Given the description of an element on the screen output the (x, y) to click on. 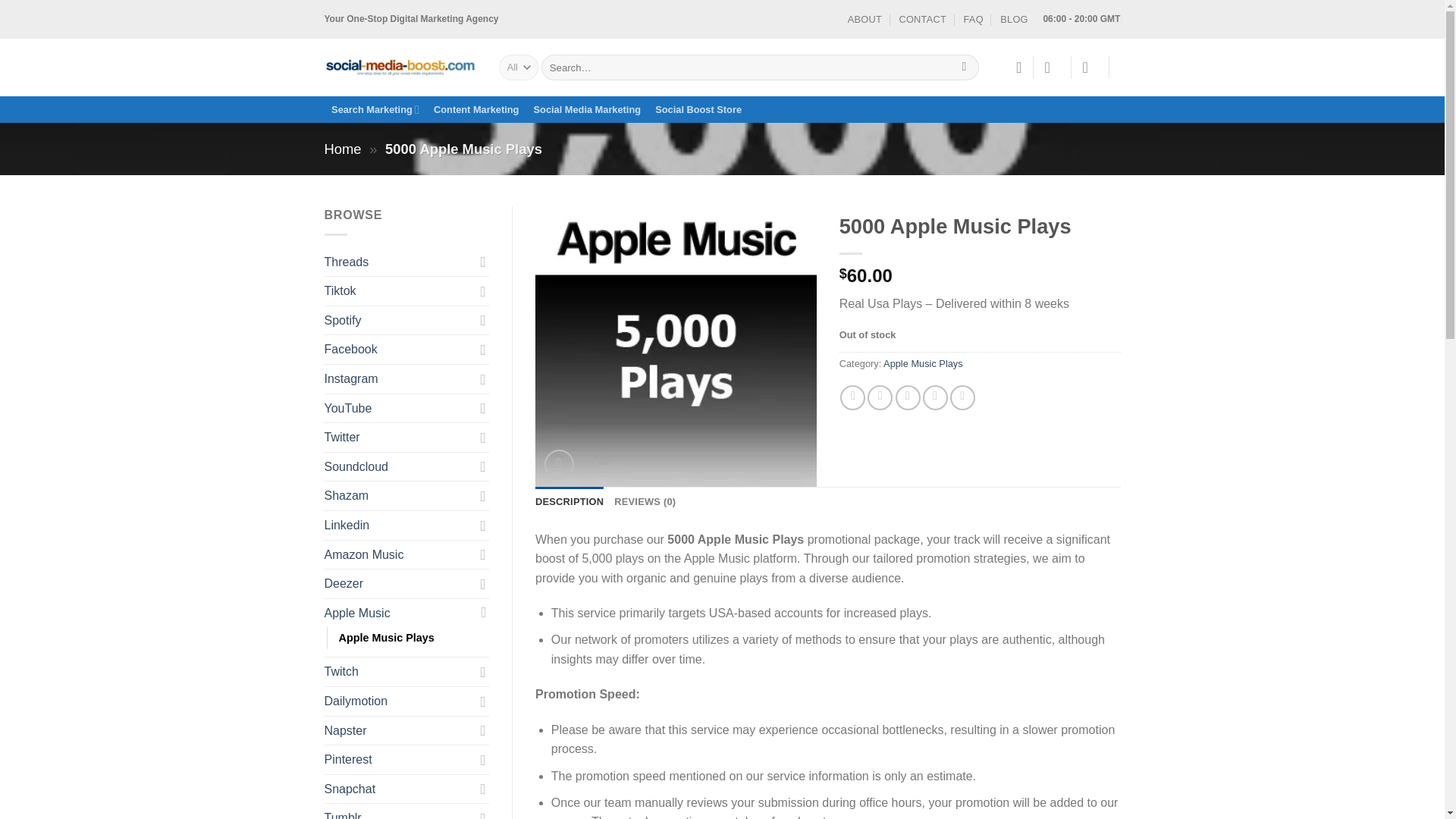
Social Boost Store (698, 109)
Social Media Marketing (586, 109)
Home (342, 148)
Share on LinkedIn (962, 397)
Search Marketing (375, 109)
Zoom (558, 464)
Content Marketing (475, 109)
Search (964, 67)
Email to a Friend (907, 397)
Spotify (399, 320)
CONTACT (922, 19)
Pin on Pinterest (935, 397)
Threads (399, 262)
Tiktok (399, 290)
Share on Twitter (879, 397)
